Given the description of an element on the screen output the (x, y) to click on. 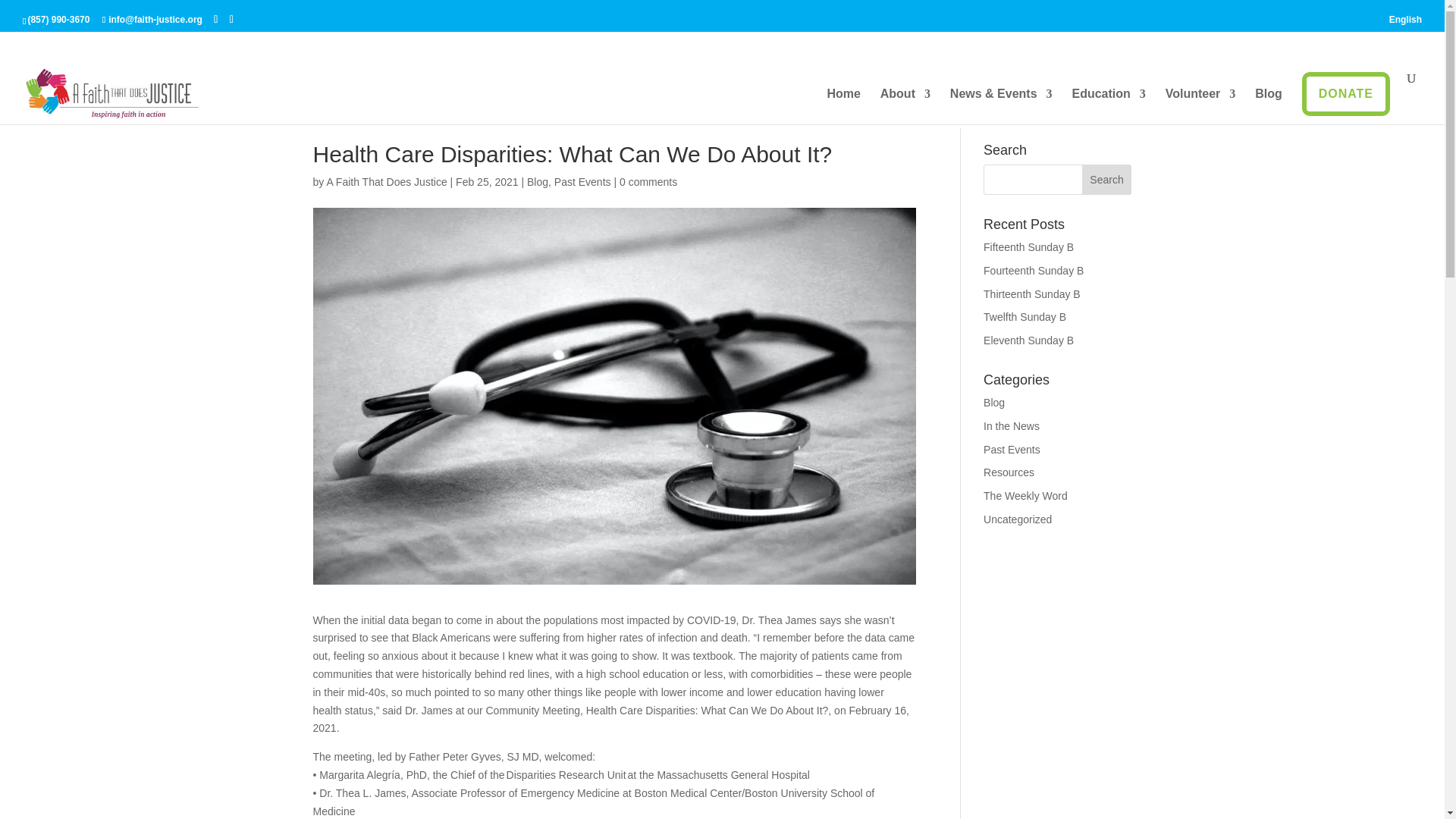
English (1405, 23)
Posts by A Faith That Does Justice (386, 182)
Home (843, 106)
English (1405, 23)
About (905, 106)
Education (1107, 106)
DONATE (1345, 94)
Volunteer (1201, 106)
Search (1106, 179)
